Given the description of an element on the screen output the (x, y) to click on. 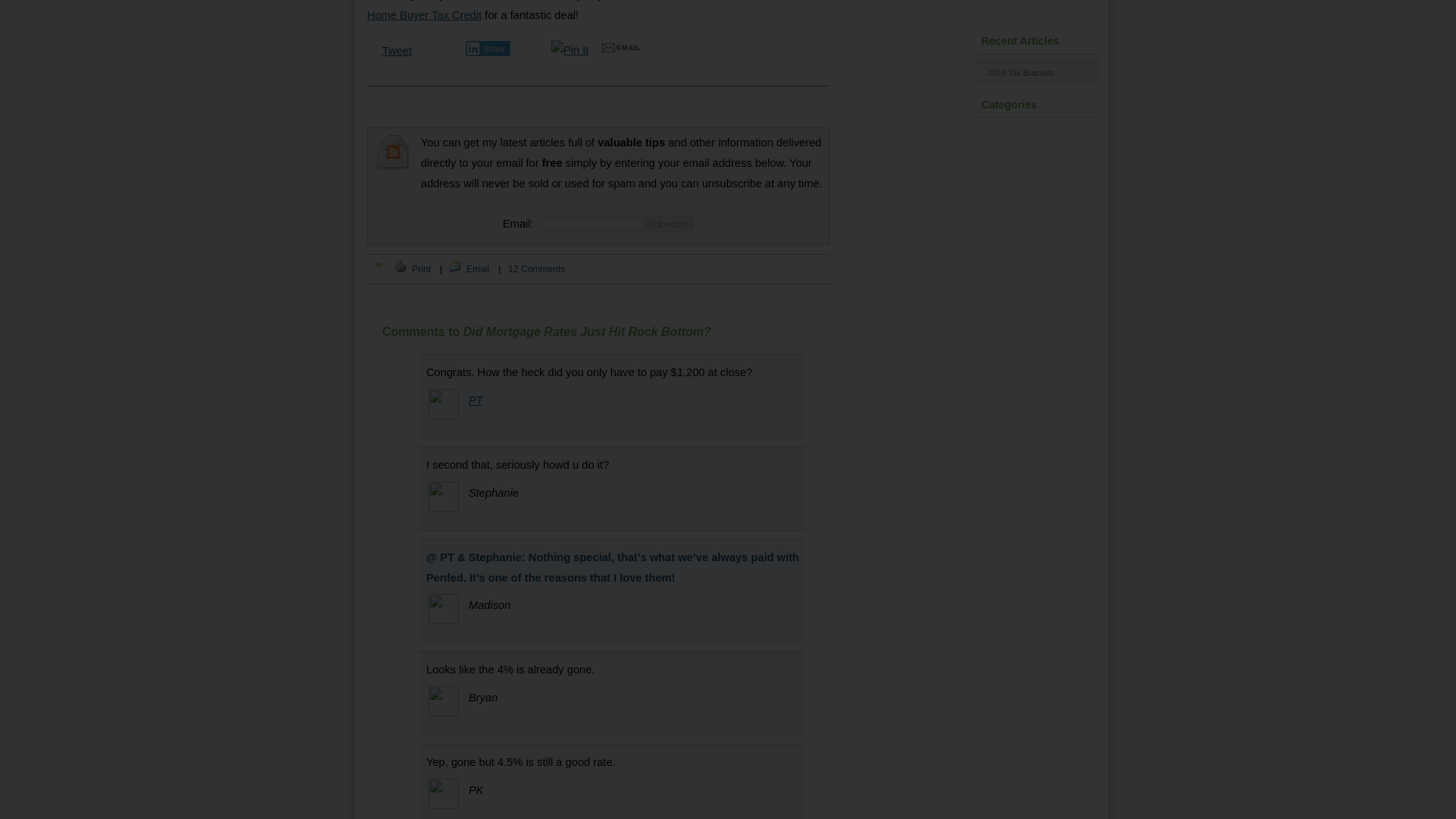
Subscribe (670, 223)
